Given the description of an element on the screen output the (x, y) to click on. 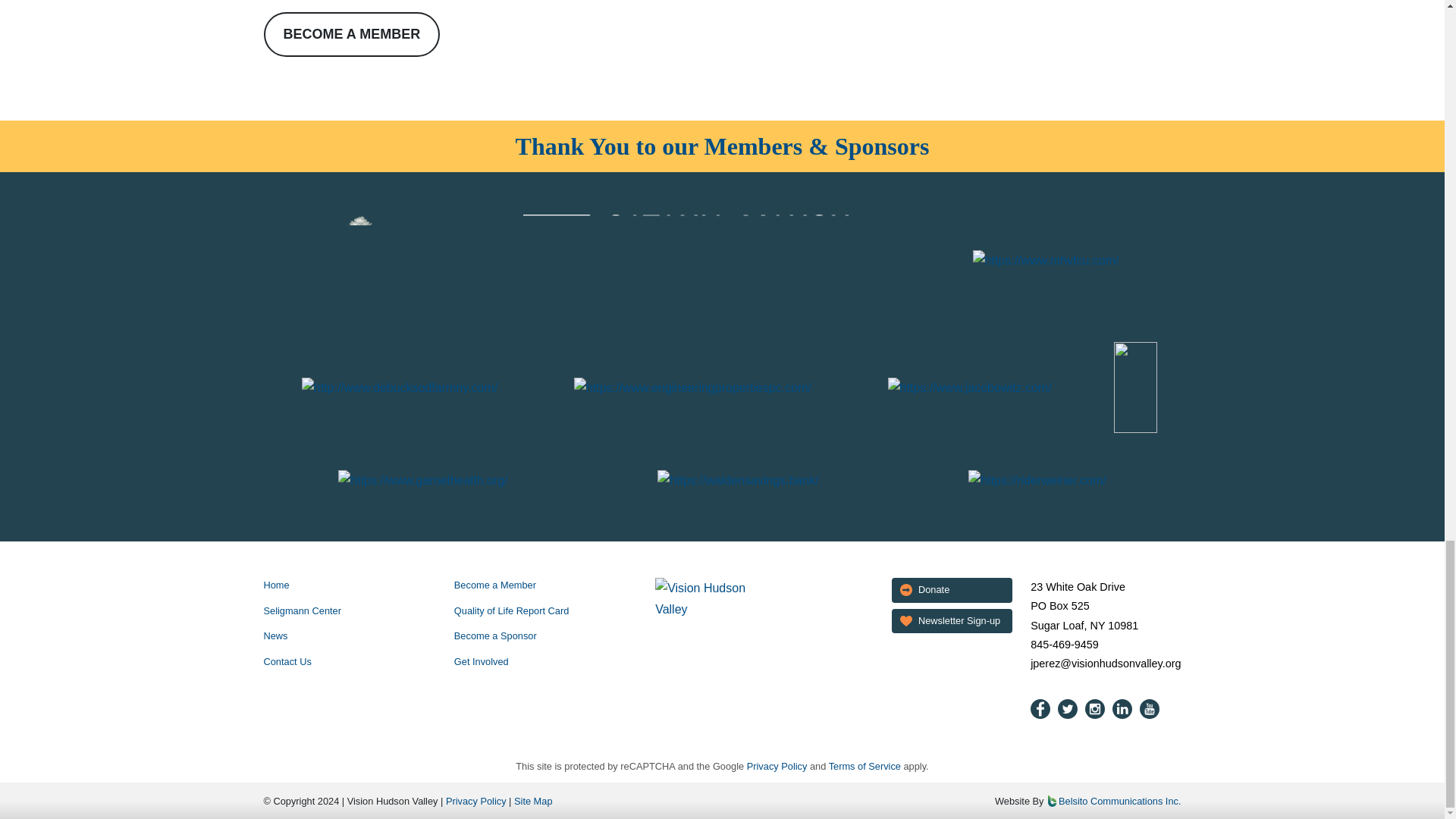
BECOME A MEMBER (352, 34)
